Given the description of an element on the screen output the (x, y) to click on. 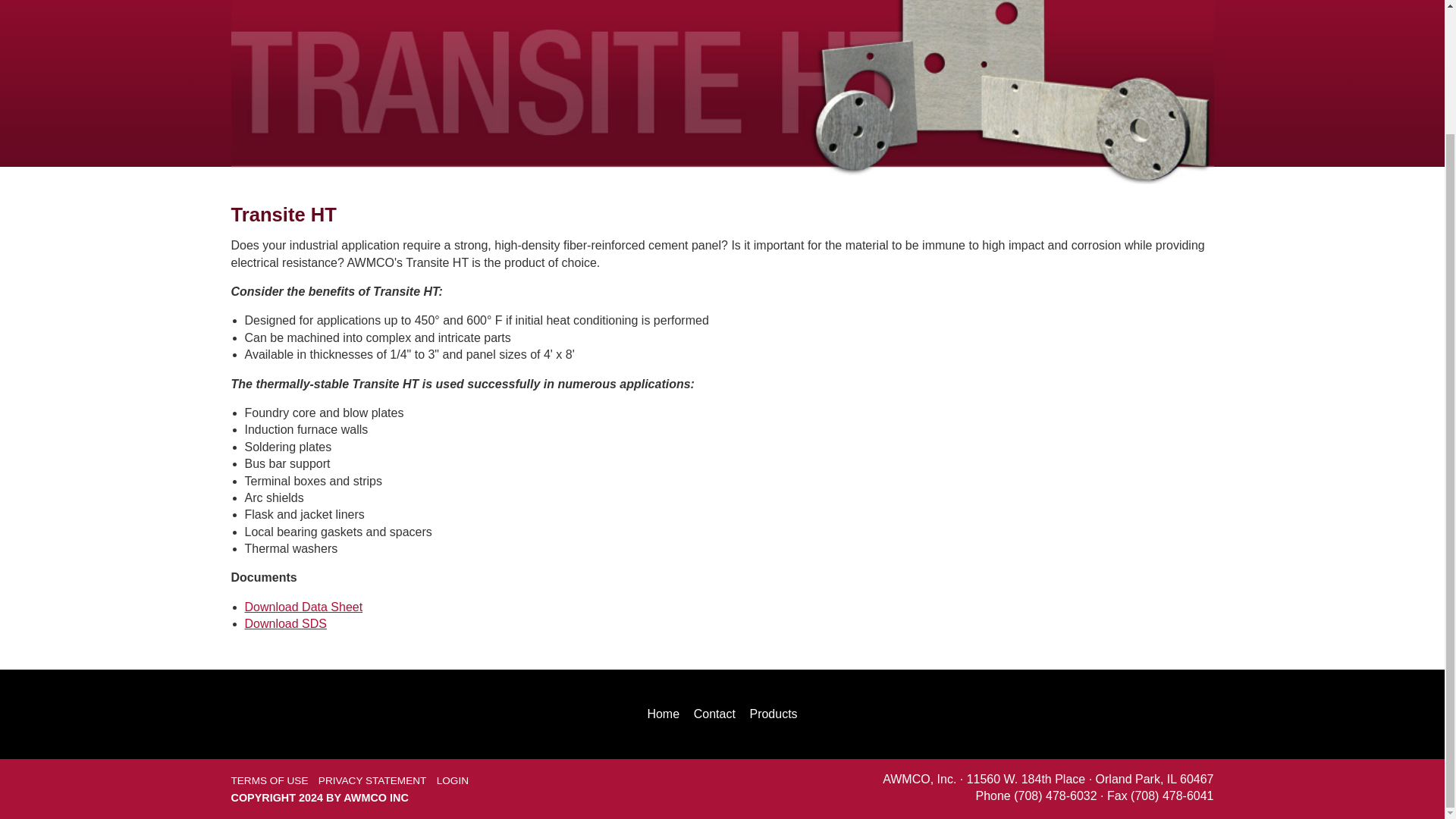
Login (452, 780)
TERMS OF USE (268, 780)
LOGIN (452, 780)
Download Data Sheet (303, 606)
Home (662, 713)
Products (772, 713)
Contact (714, 713)
PRIVACY STATEMENT (372, 780)
Download SDS (285, 623)
